Given the description of an element on the screen output the (x, y) to click on. 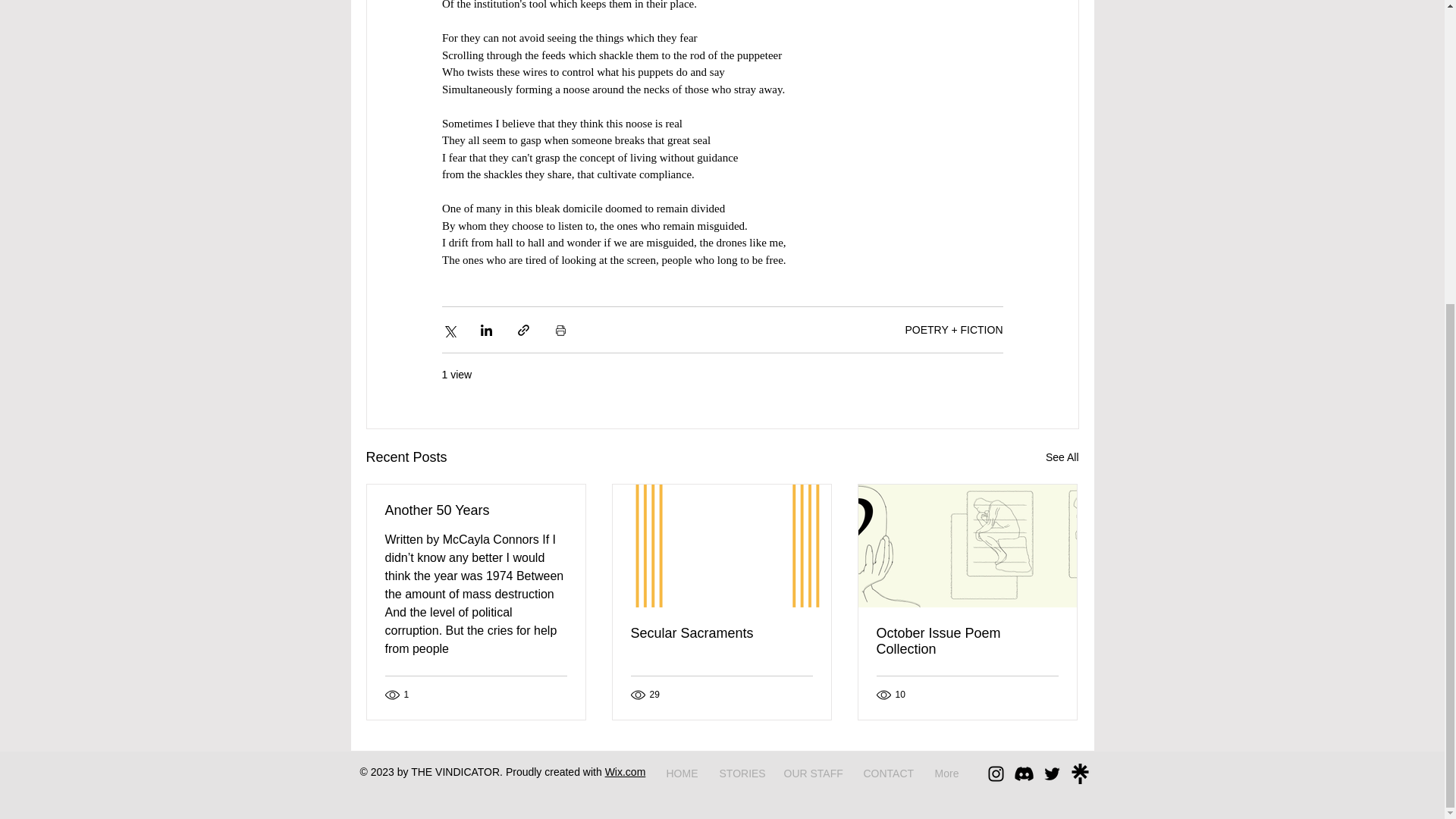
Secular Sacraments (721, 633)
Wix.com (625, 771)
THE VINDICATOR (454, 771)
OUR STAFF (811, 773)
STORIES (740, 773)
HOME (681, 773)
October Issue Poem Collection (967, 641)
See All (1061, 457)
Another 50 Years (476, 510)
CONTACT (887, 773)
